Given the description of an element on the screen output the (x, y) to click on. 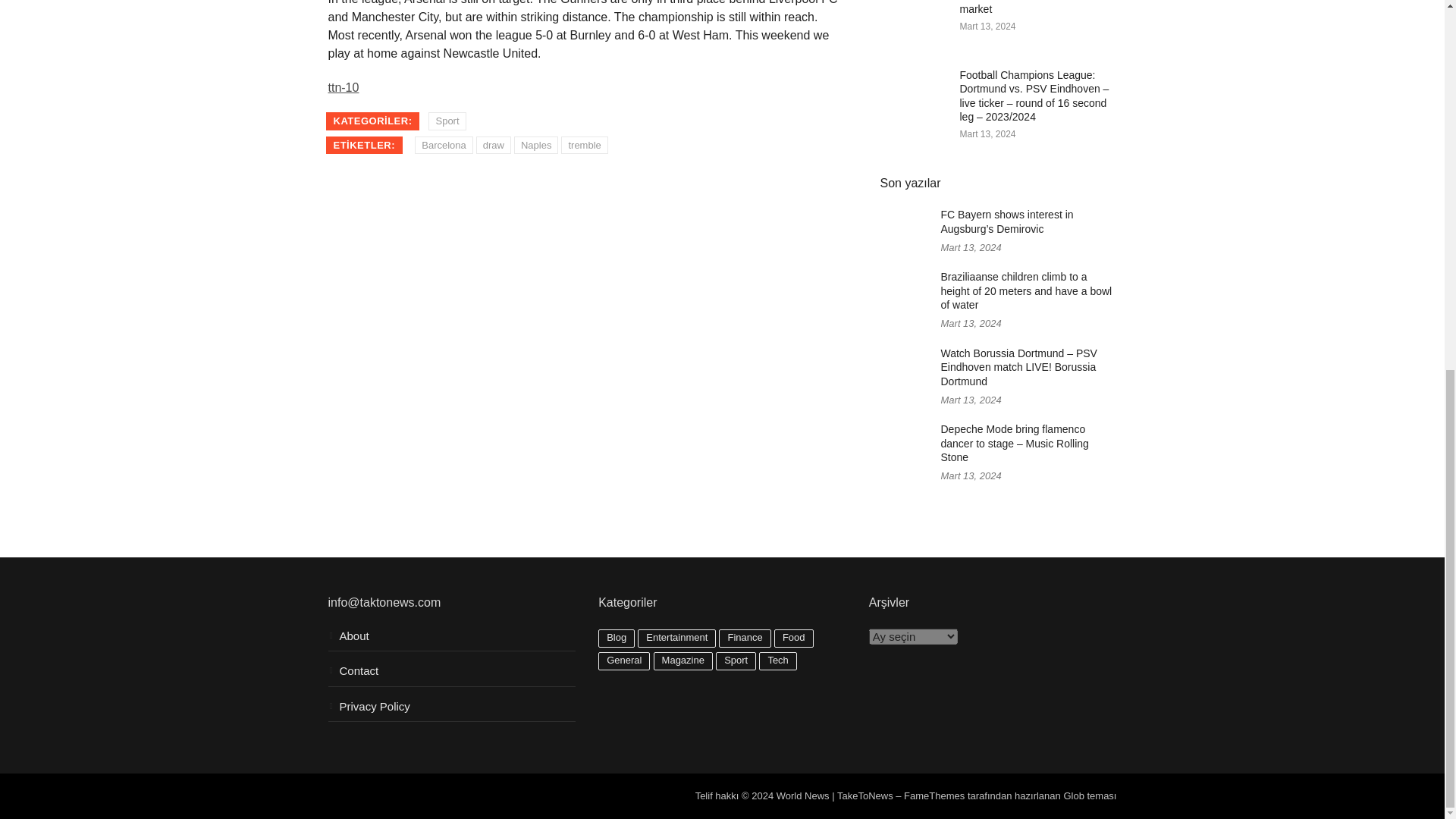
ttn-10 (342, 87)
Sport (446, 121)
tremble (583, 145)
Barcelona (443, 145)
Naples (535, 145)
draw (493, 145)
